Given the description of an element on the screen output the (x, y) to click on. 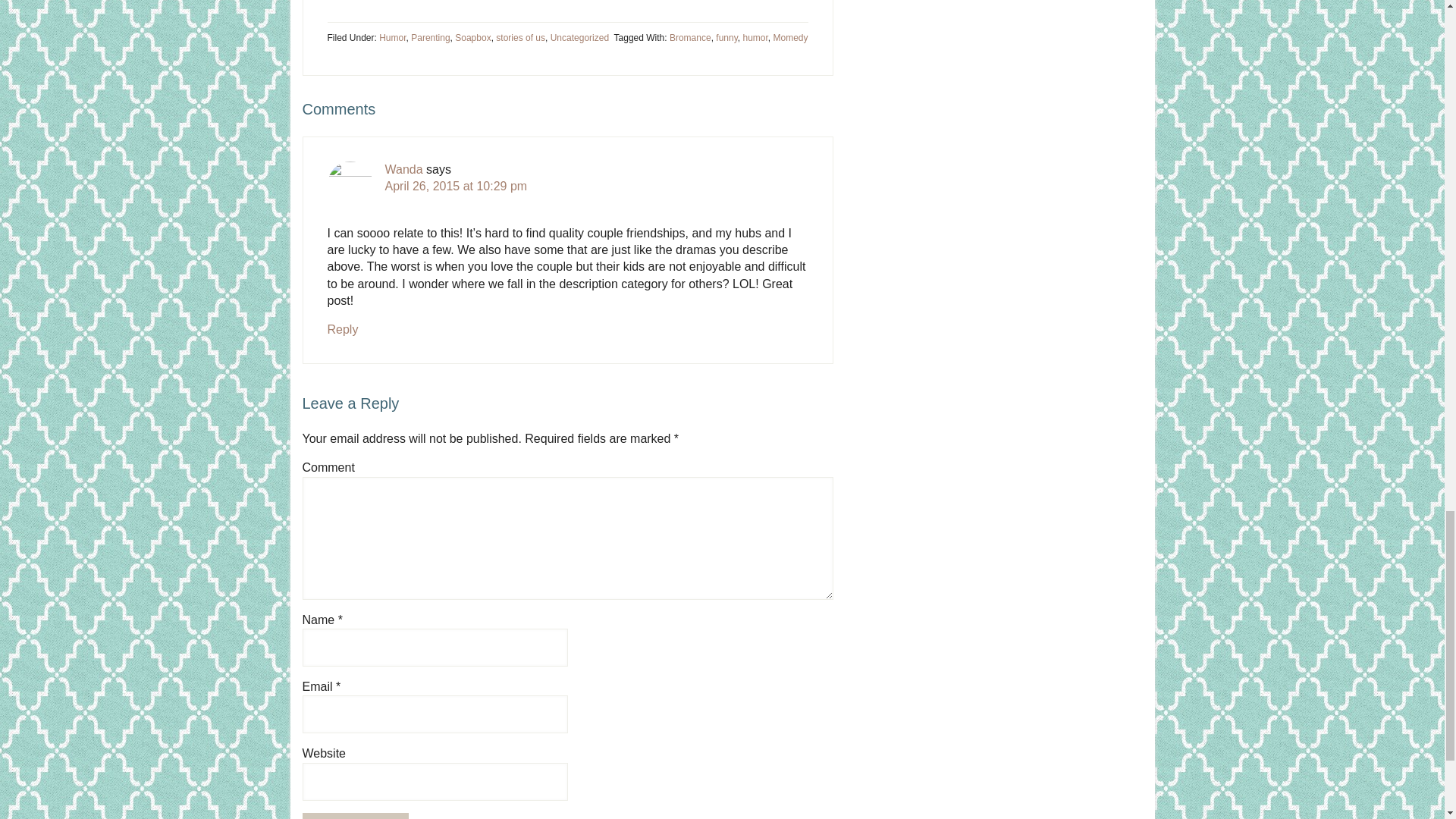
Post Comment (355, 816)
Parenting (429, 37)
Soapbox (472, 37)
Humor (392, 37)
stories of us (520, 37)
